Given the description of an element on the screen output the (x, y) to click on. 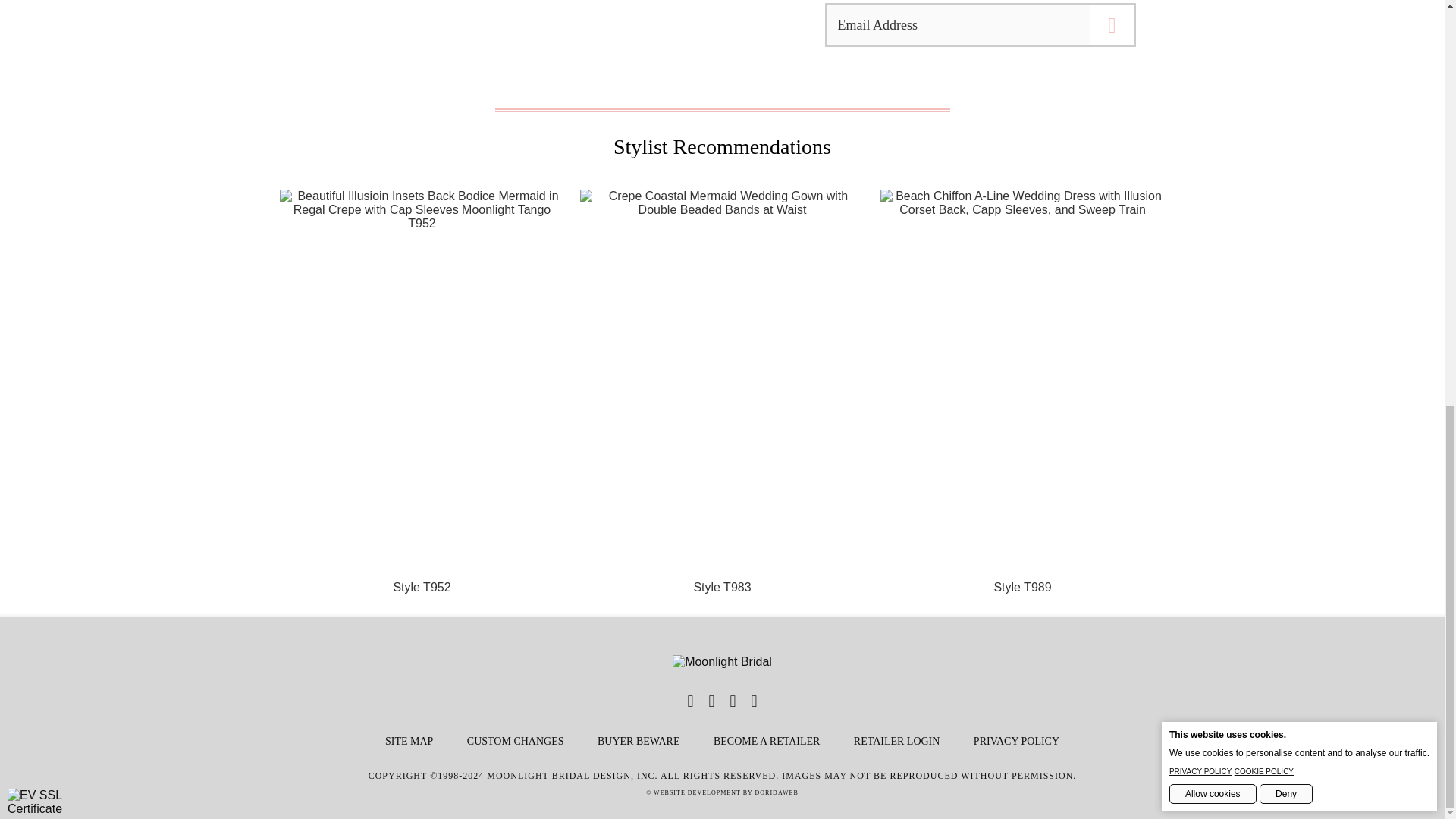
Moonlight Bridal (721, 662)
